Given the description of an element on the screen output the (x, y) to click on. 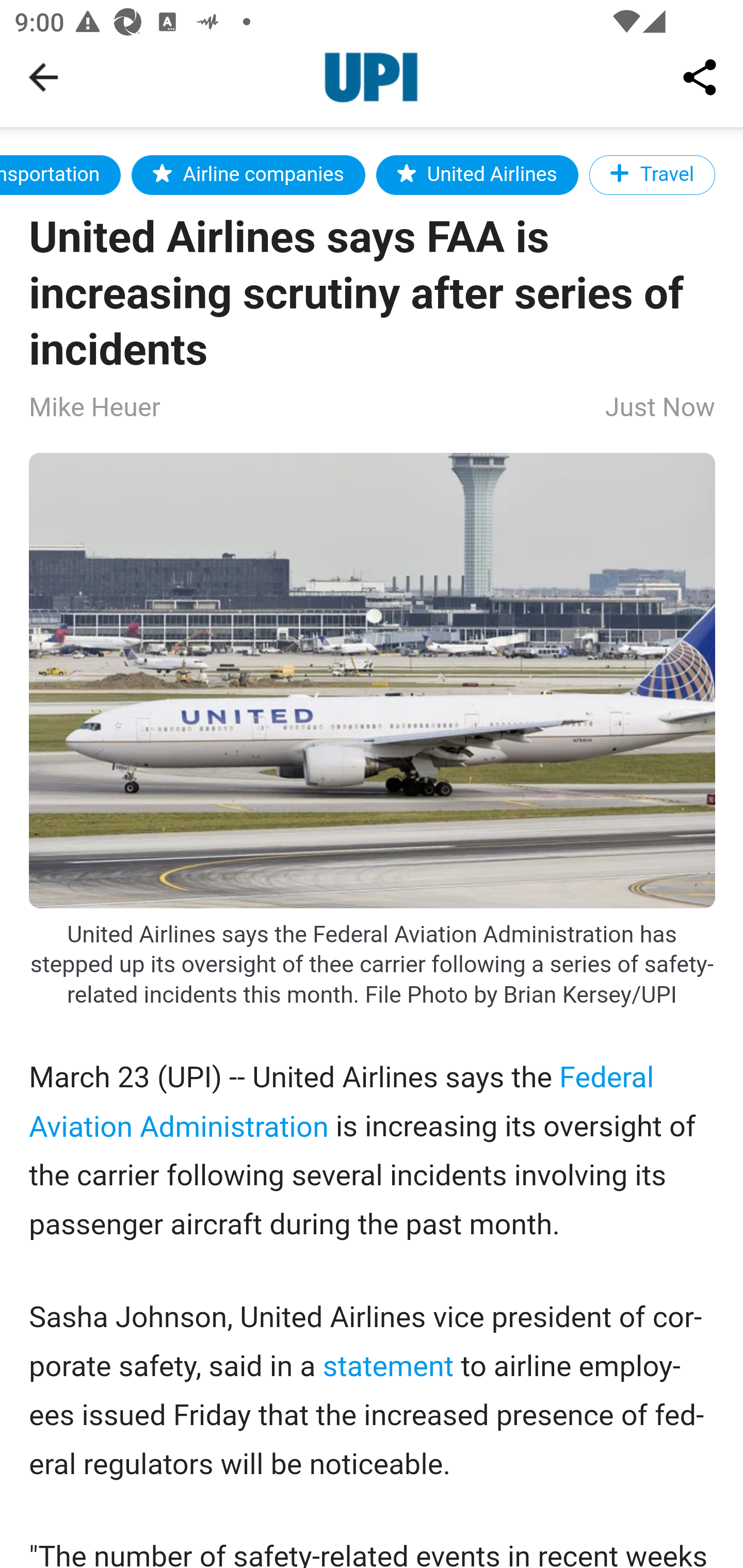
Transportation (61, 174)
Airline companies (248, 174)
United Airlines (477, 174)
Travel (652, 174)
Federal Aviation Administration (341, 1101)
statement (387, 1365)
